Given the description of an element on the screen output the (x, y) to click on. 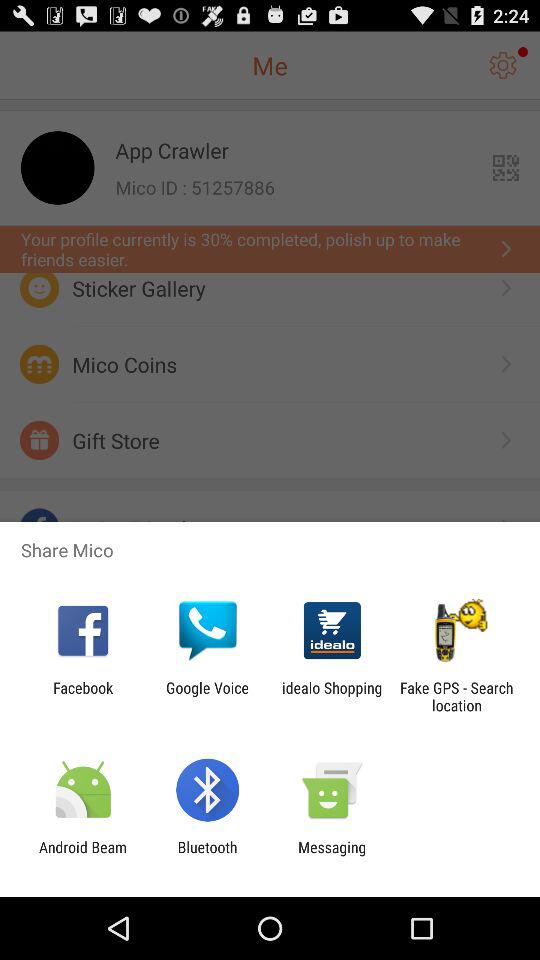
choose the item to the right of idealo shopping item (456, 696)
